Given the description of an element on the screen output the (x, y) to click on. 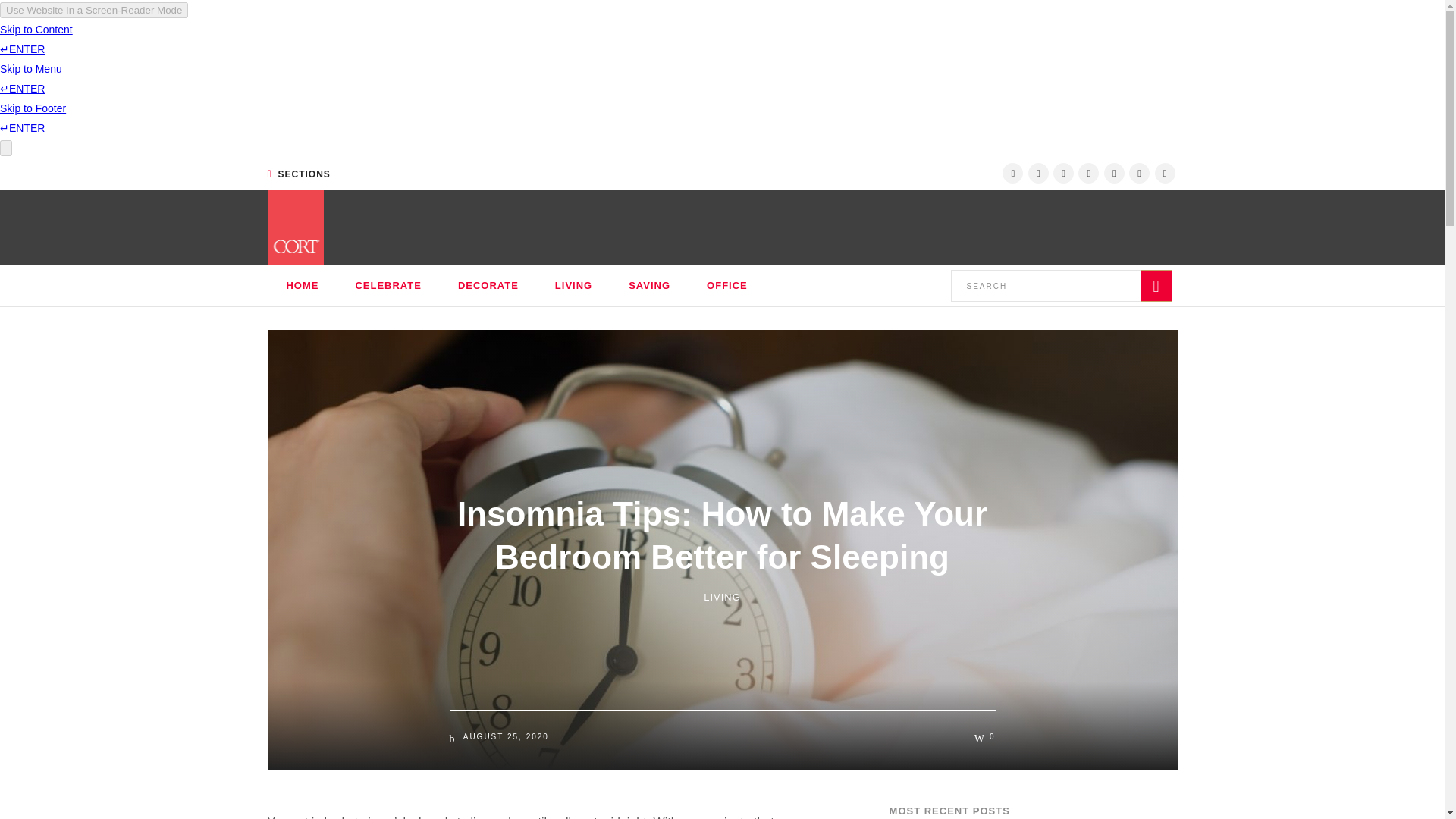
Site search (1061, 286)
DECORATE (488, 285)
Enter your search term (1045, 286)
SECTIONS (298, 174)
SAVING (649, 285)
OFFICE (726, 285)
LIVING (573, 285)
Like this (984, 736)
HOME (301, 285)
Submit your search term (1156, 286)
